Given the description of an element on the screen output the (x, y) to click on. 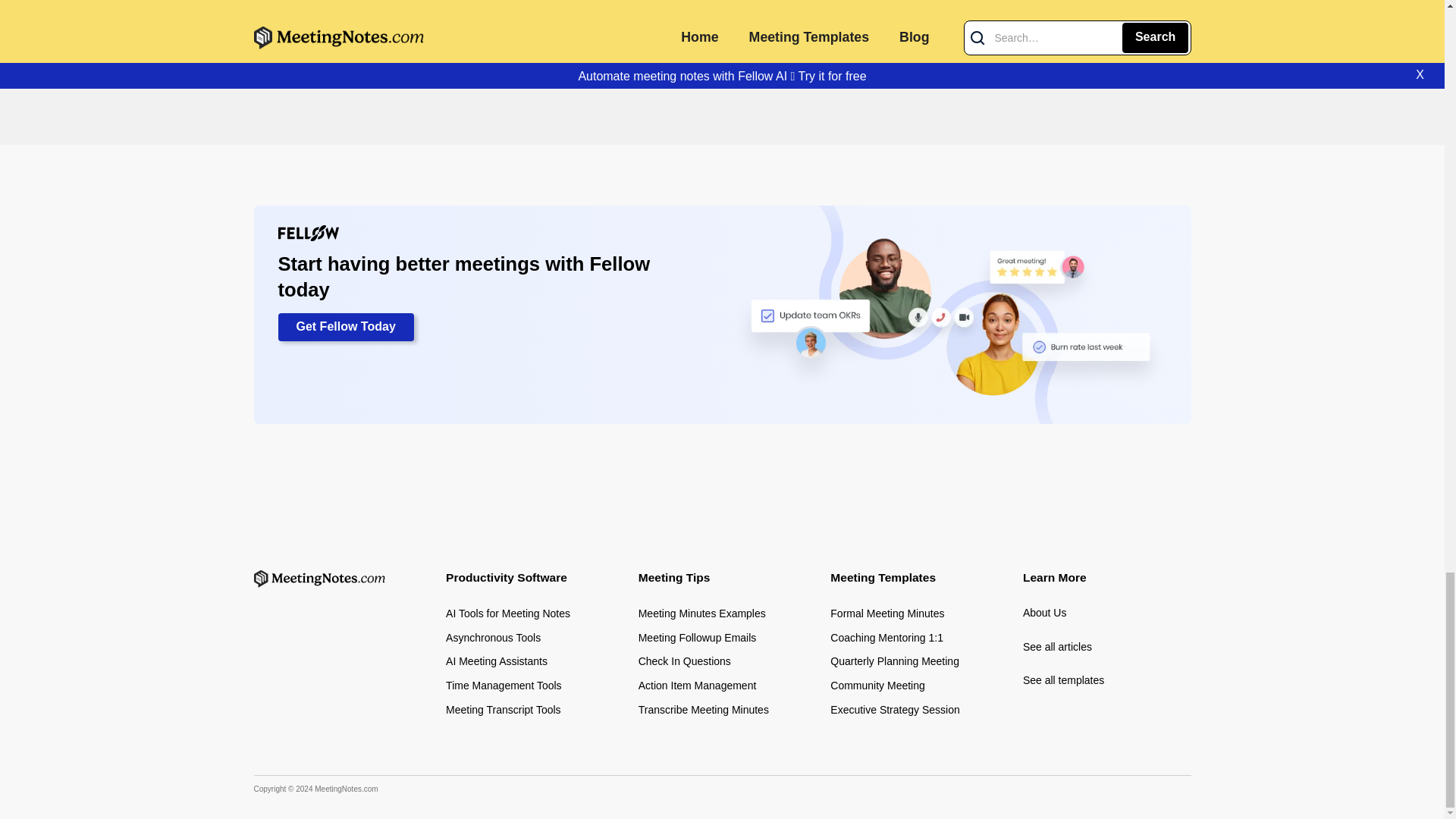
Executive Strategy Session (894, 710)
Time Management Tools (503, 685)
Quarterly Planning Meeting (894, 661)
Meeting Transcript Tools (502, 710)
Formal Meeting Minutes (886, 613)
Meeting Followup Emails (698, 638)
AI Tools for Meeting Notes (507, 613)
Coaching Mentoring 1:1 (886, 638)
See all articles (1107, 647)
Meeting Minutes Examples (702, 613)
Transcribe Meeting Minutes (703, 710)
Community Meeting (876, 685)
Check In Questions (684, 661)
Get Fellow Today (345, 327)
